Given the description of an element on the screen output the (x, y) to click on. 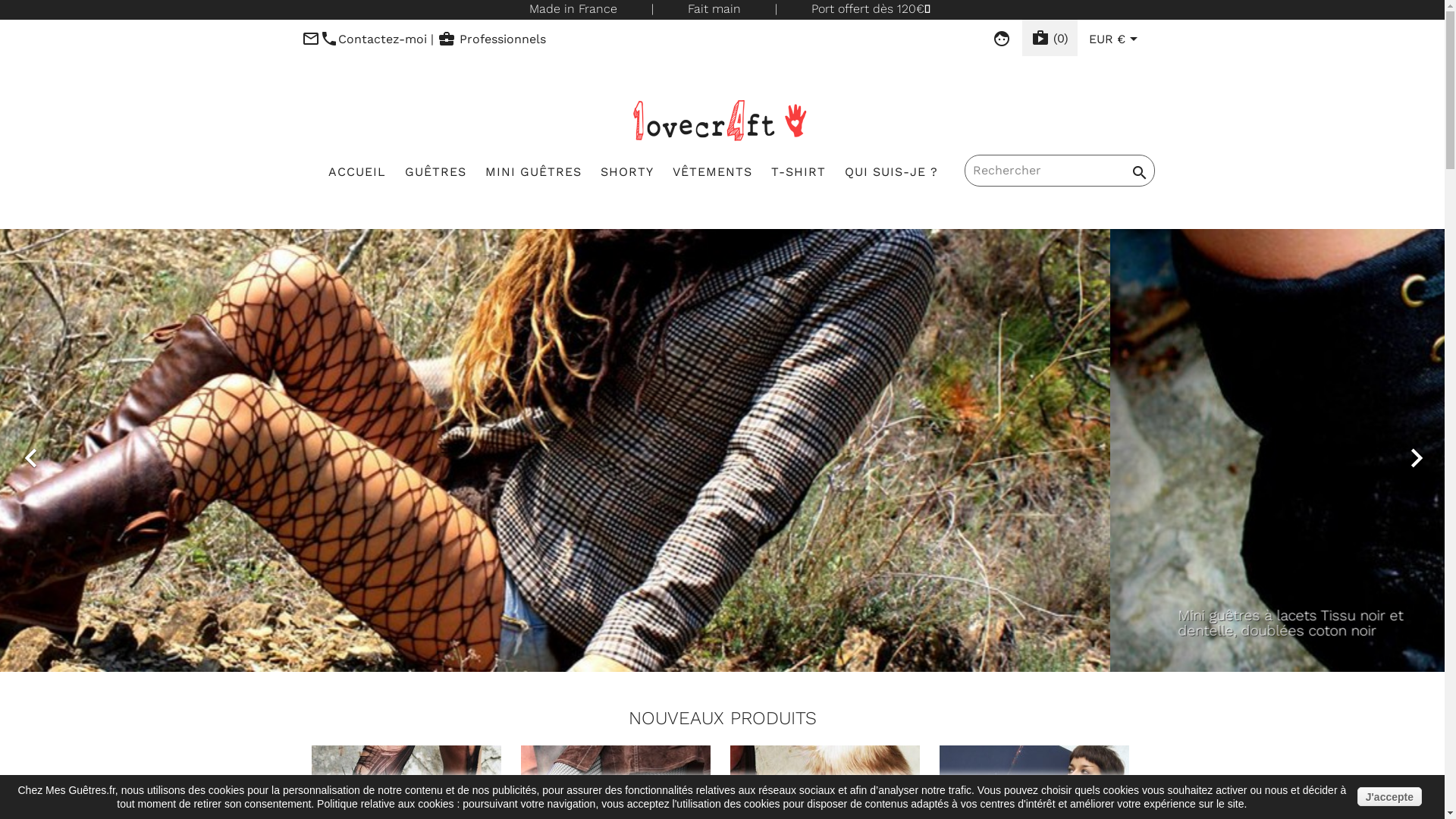
face Element type: text (1001, 38)
SHORTY Element type: text (627, 173)
ACCUEIL Element type: text (356, 173)
J'accepte Element type: text (1389, 796)
mail_outlinecallContactez-moi Element type: text (363, 38)
QUI SUIS-JE ? Element type: text (891, 173)
T-SHIRT Element type: text (798, 173)
